Given the description of an element on the screen output the (x, y) to click on. 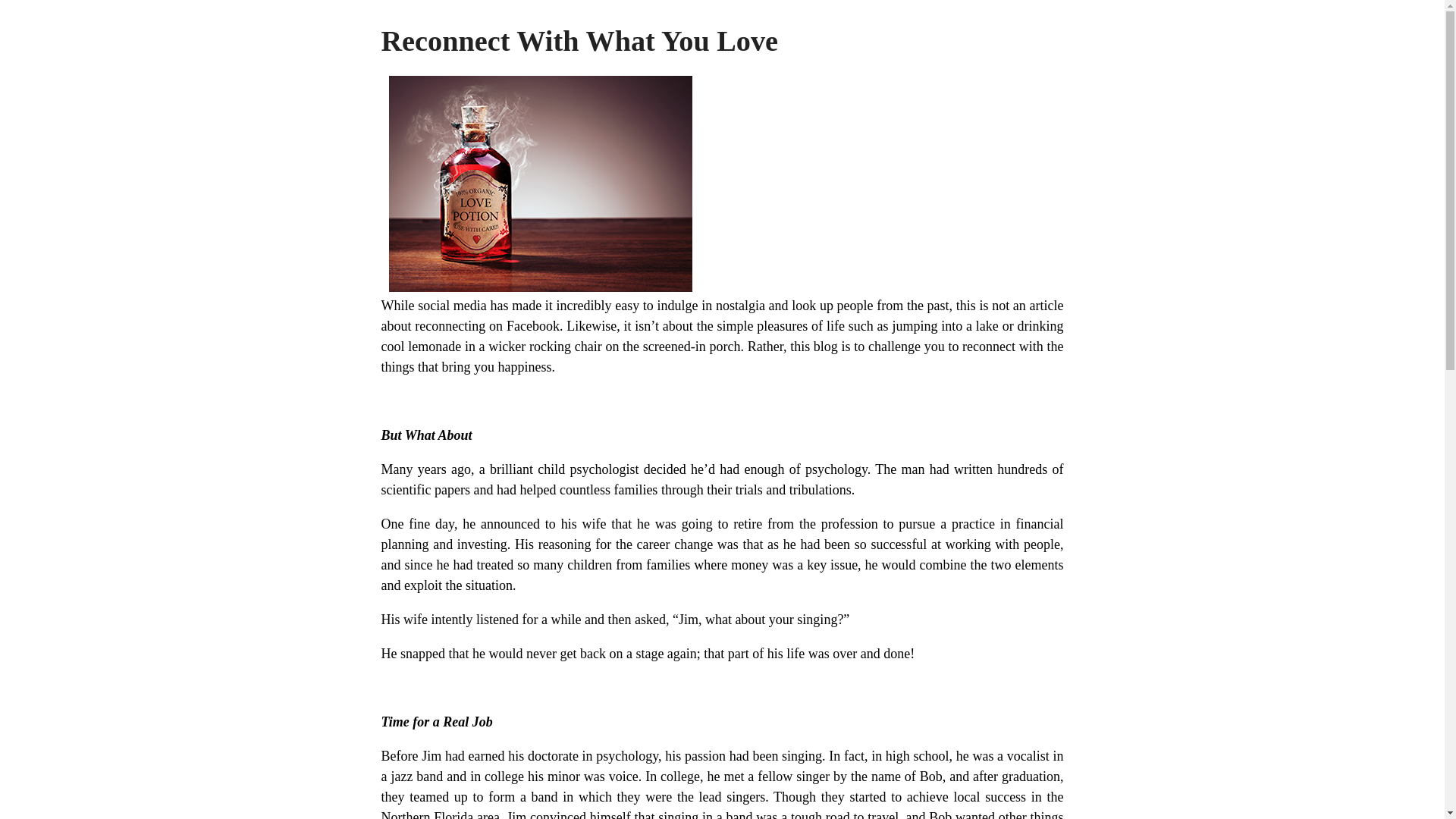
Facebook (532, 325)
